Given the description of an element on the screen output the (x, y) to click on. 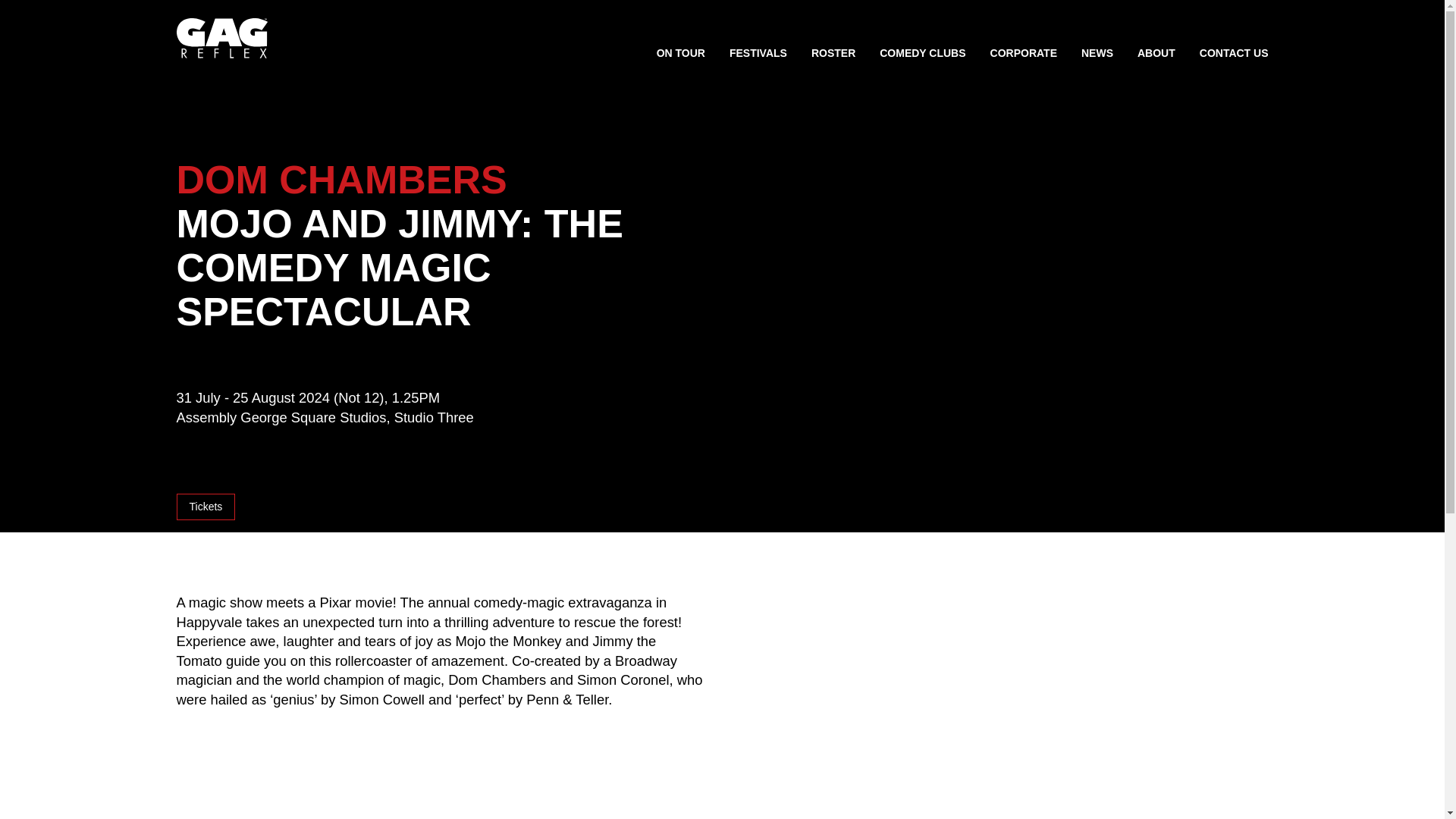
Tickets (205, 506)
COMEDY CLUBS (922, 53)
ABOUT (1155, 53)
ON TOUR (680, 53)
CONTACT US (1233, 53)
ROSTER (833, 53)
FESTIVALS (758, 53)
NEWS (1097, 53)
CORPORATE (1023, 53)
